Given the description of an element on the screen output the (x, y) to click on. 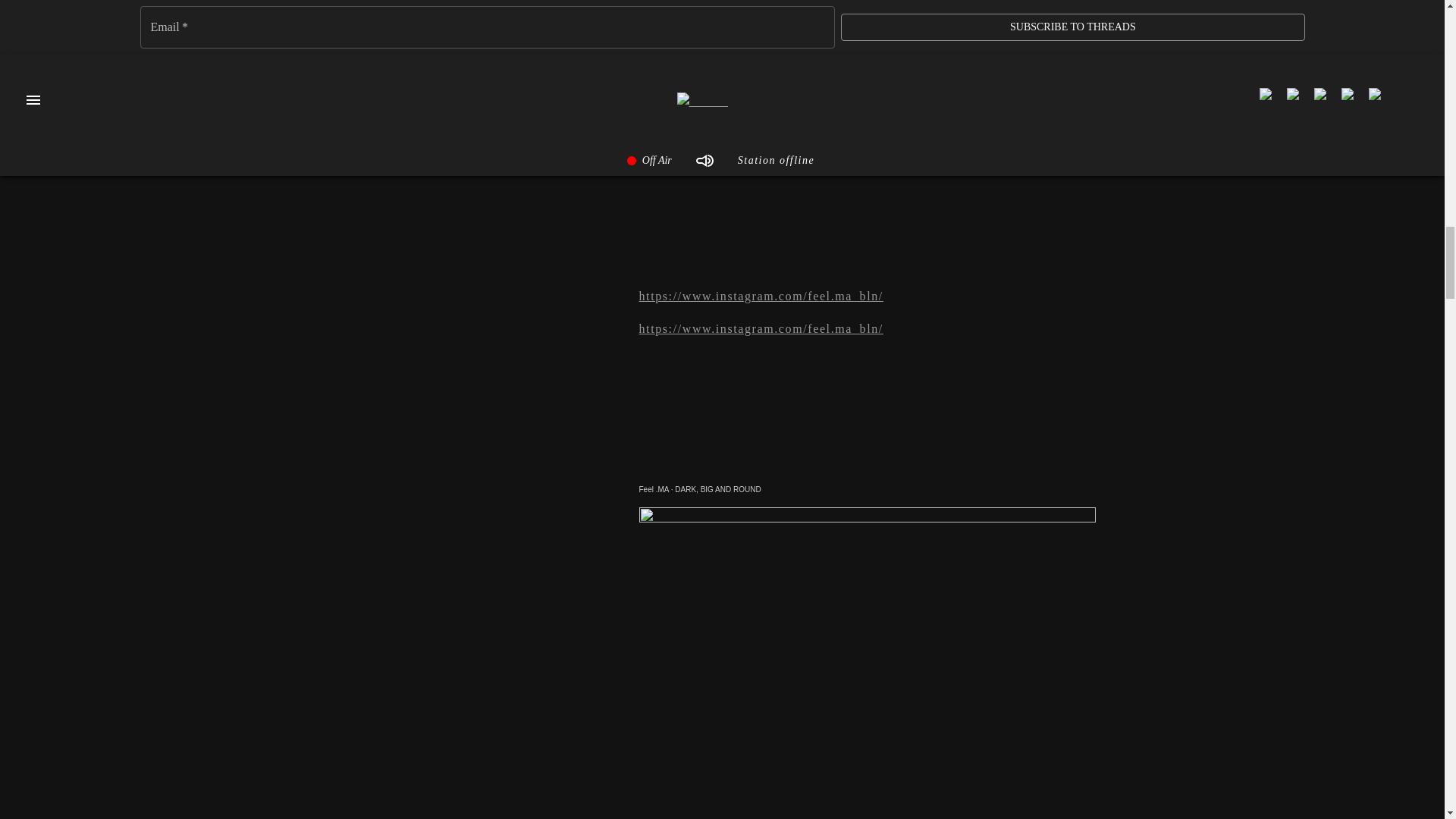
DARK, BIG AND ROUND (717, 489)
Feel .MA (653, 489)
DARK, BIG AND ROUND (717, 489)
Feel .MA (653, 489)
